Given the description of an element on the screen output the (x, y) to click on. 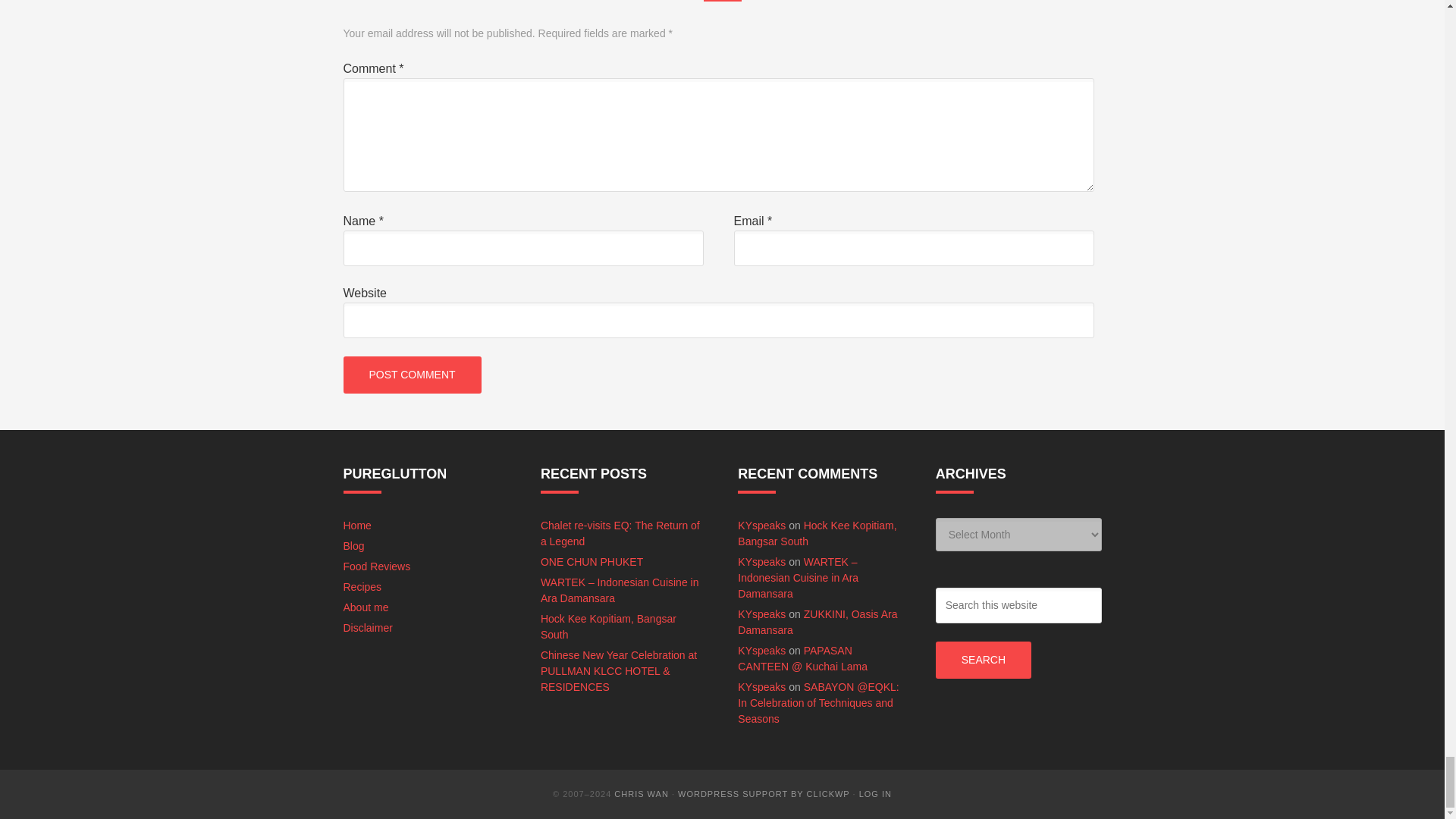
Post Comment (411, 374)
Search (983, 659)
Search (983, 659)
